Given the description of an element on the screen output the (x, y) to click on. 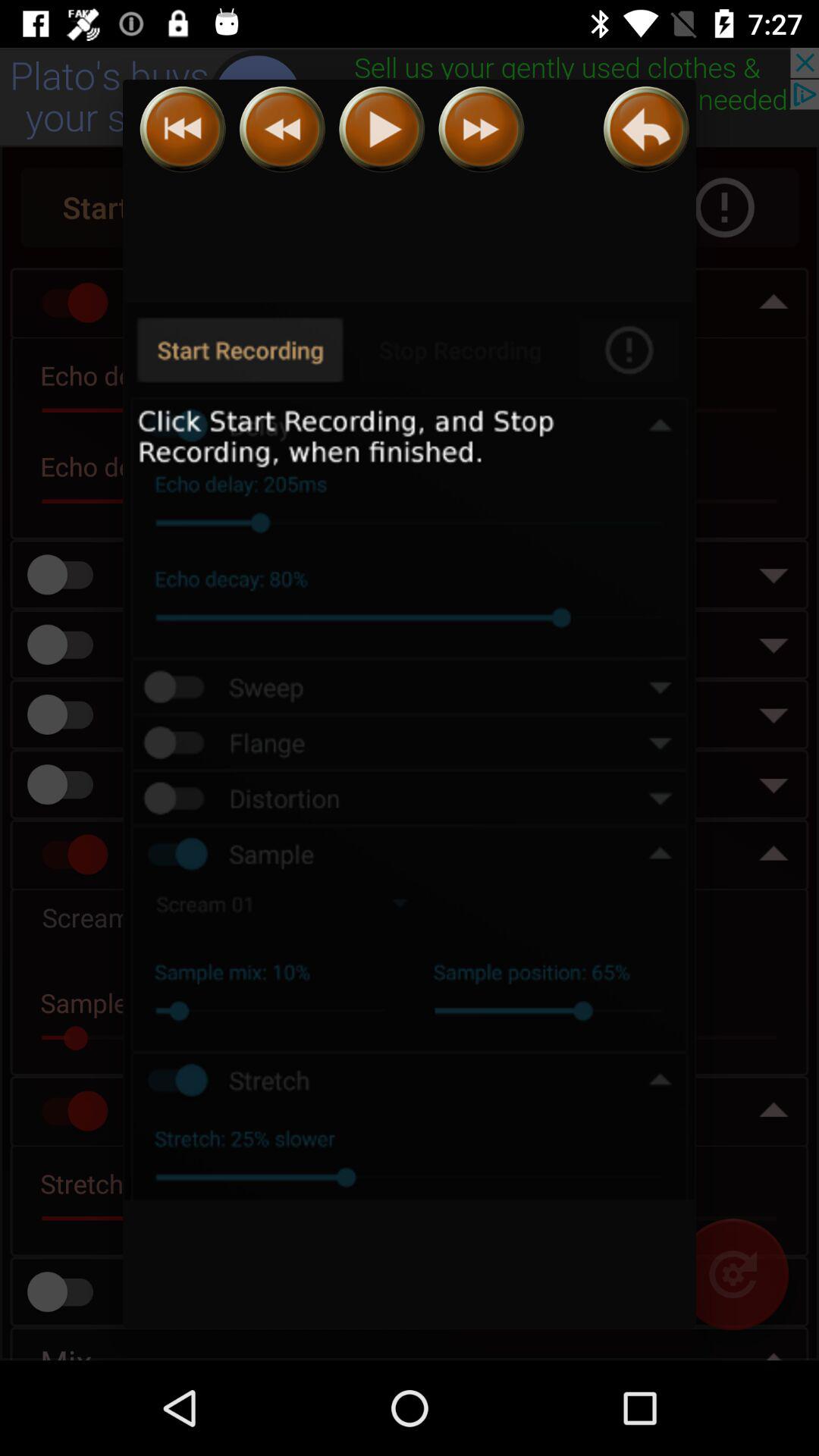
go back (282, 129)
